Given the description of an element on the screen output the (x, y) to click on. 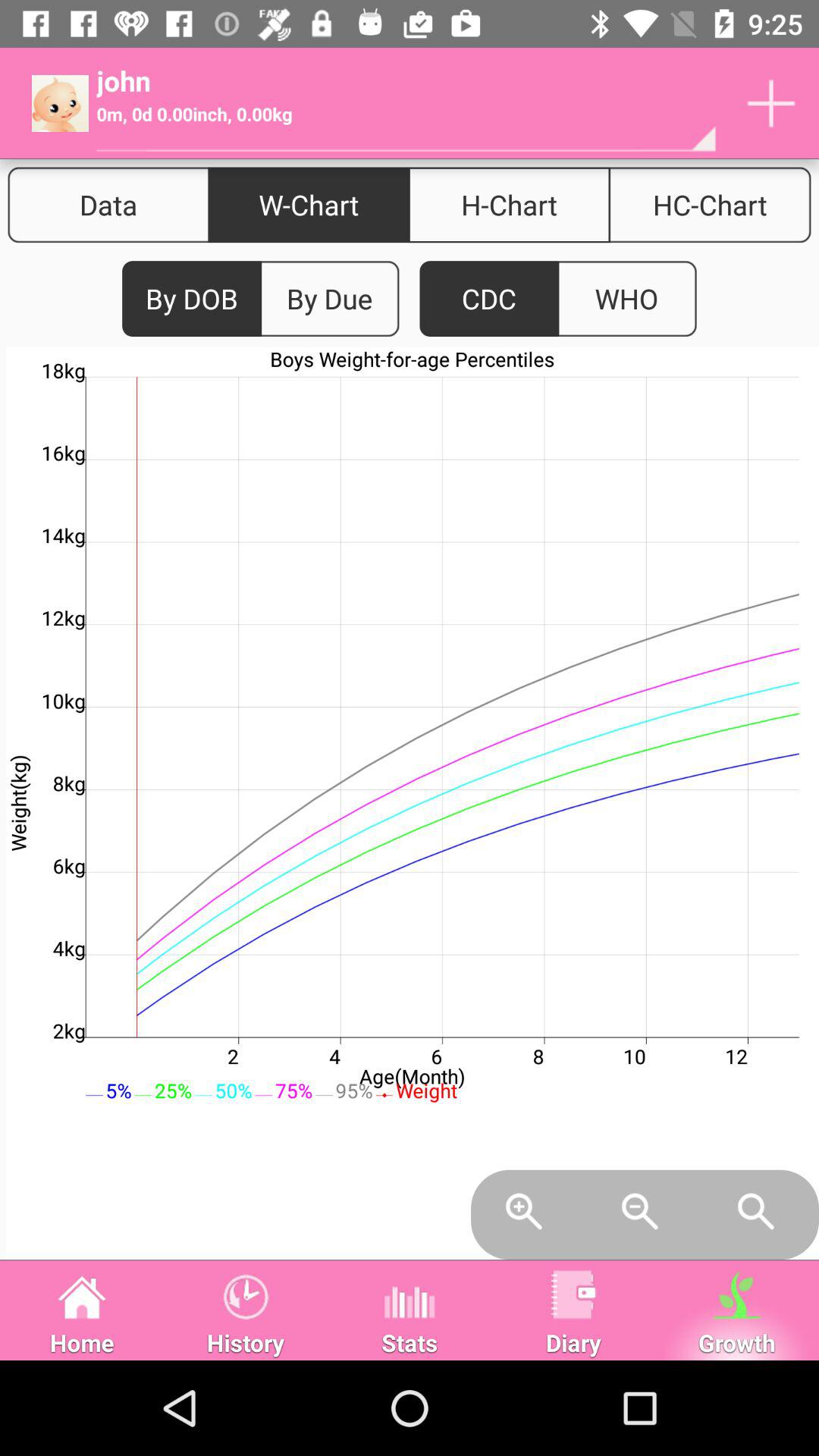
click the icon below data icon (191, 298)
